Given the description of an element on the screen output the (x, y) to click on. 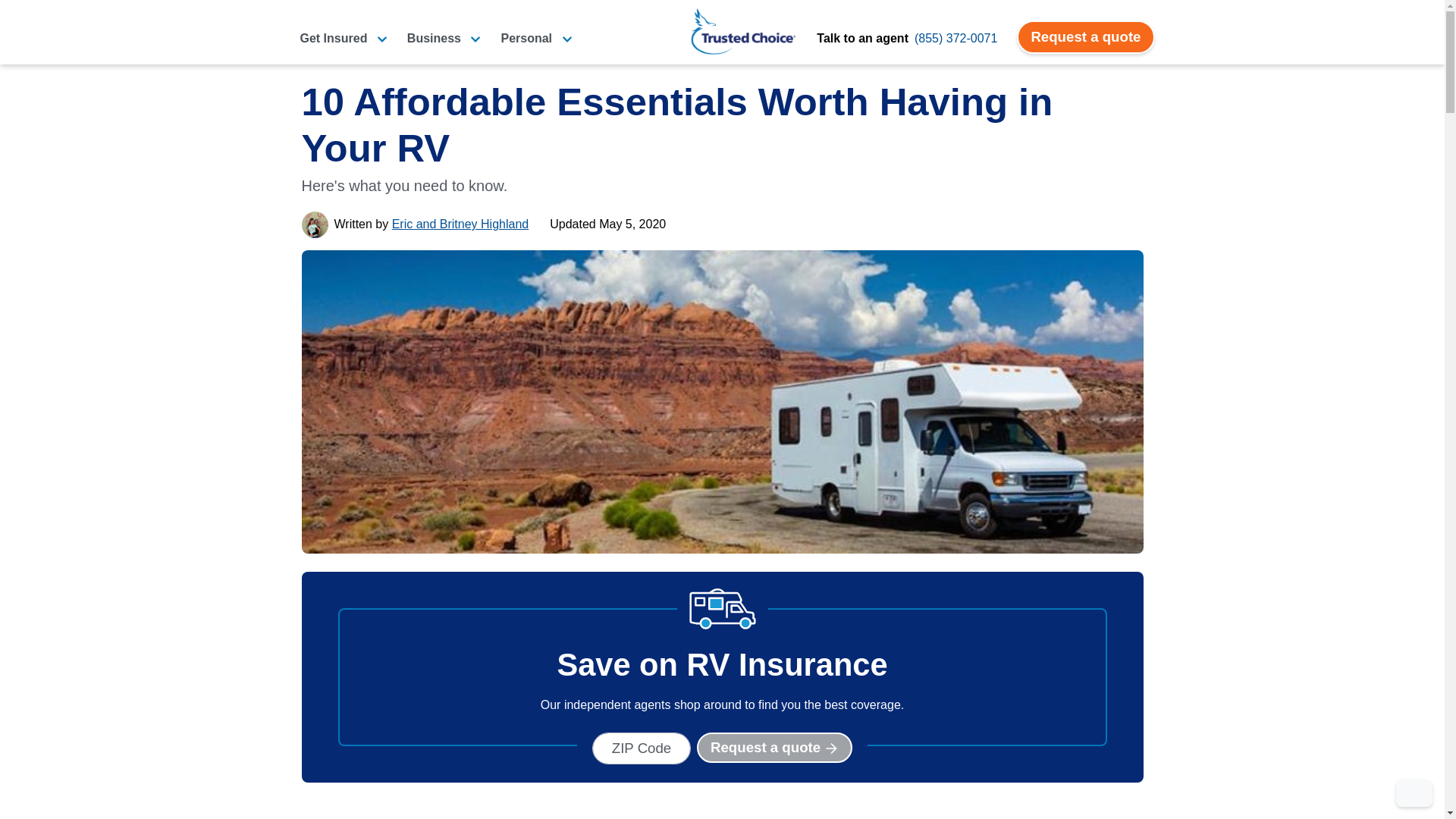
Get Insured (343, 38)
Business (444, 38)
Personal (536, 38)
Homepage (742, 31)
Request a quote (1085, 37)
